Given the description of an element on the screen output the (x, y) to click on. 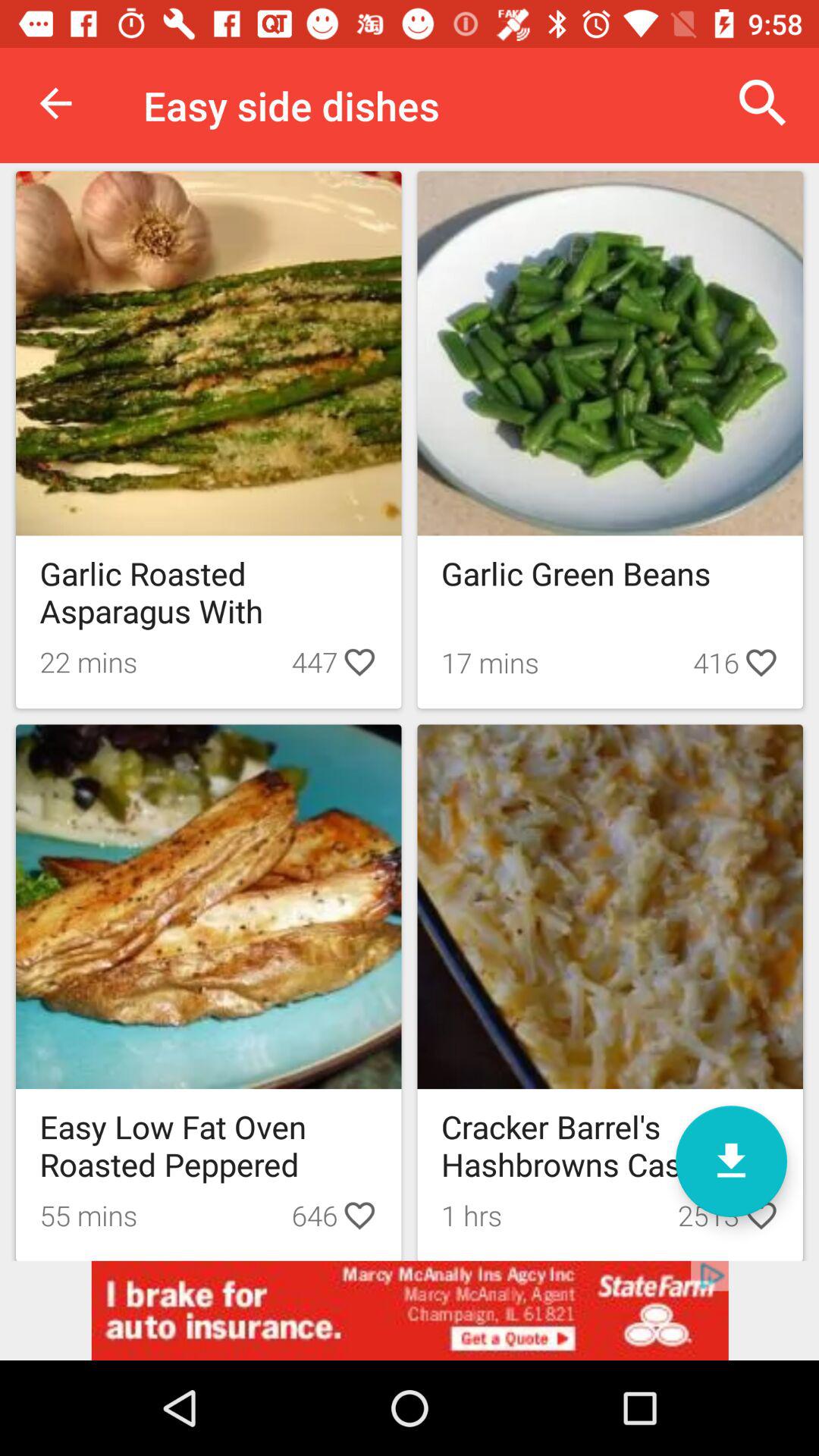
download symbals (731, 1161)
